Given the description of an element on the screen output the (x, y) to click on. 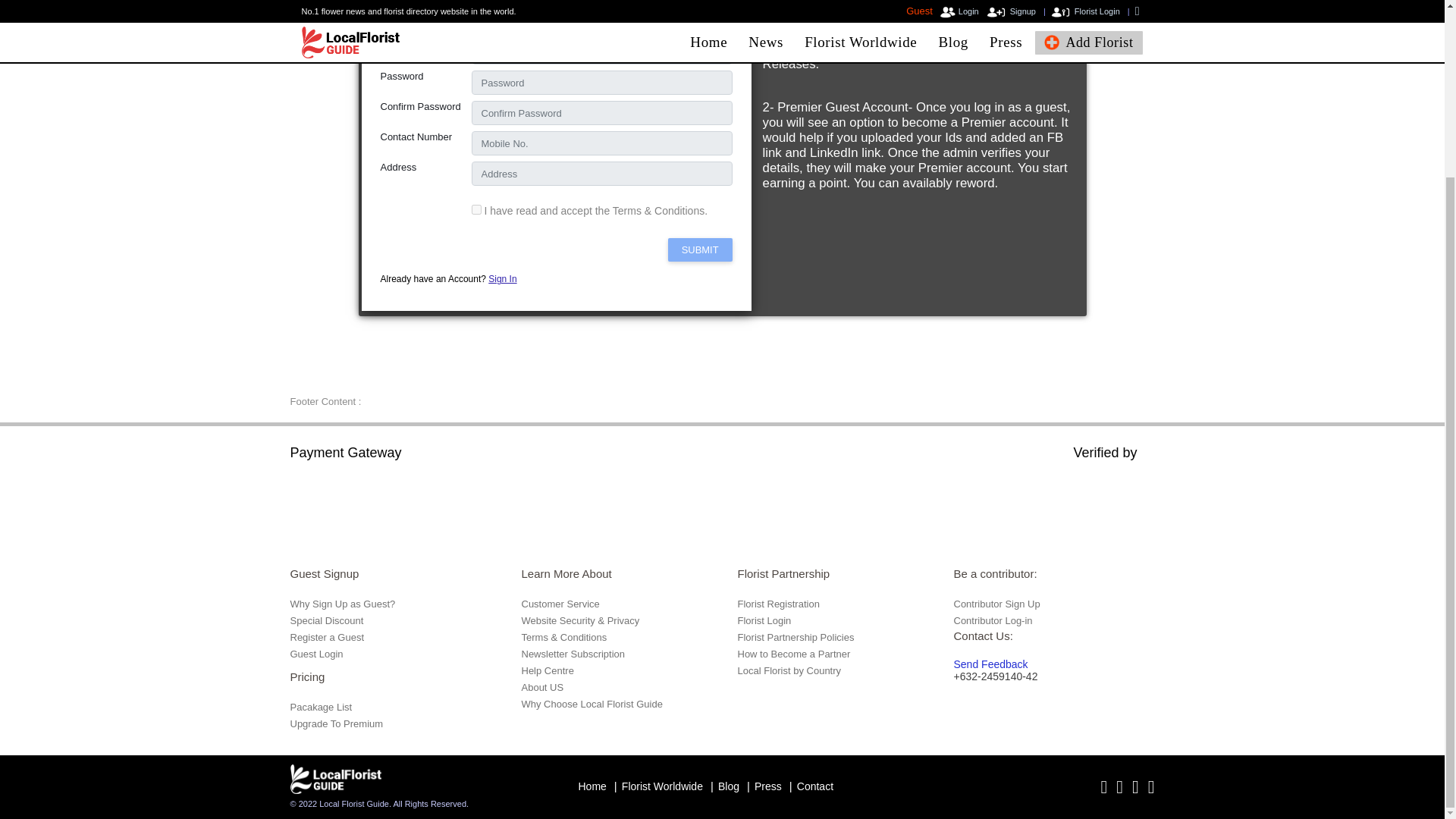
Sign In (501, 278)
Contributor Sign Up (997, 603)
Newsletter Subscription (573, 654)
Florist Partnership Policies (794, 636)
Why Sign Up as Guest? (341, 603)
Customer Service (560, 603)
Help Centre (547, 670)
Send Feedback (990, 664)
About US (542, 686)
Upgrade To Premium (335, 723)
